Given the description of an element on the screen output the (x, y) to click on. 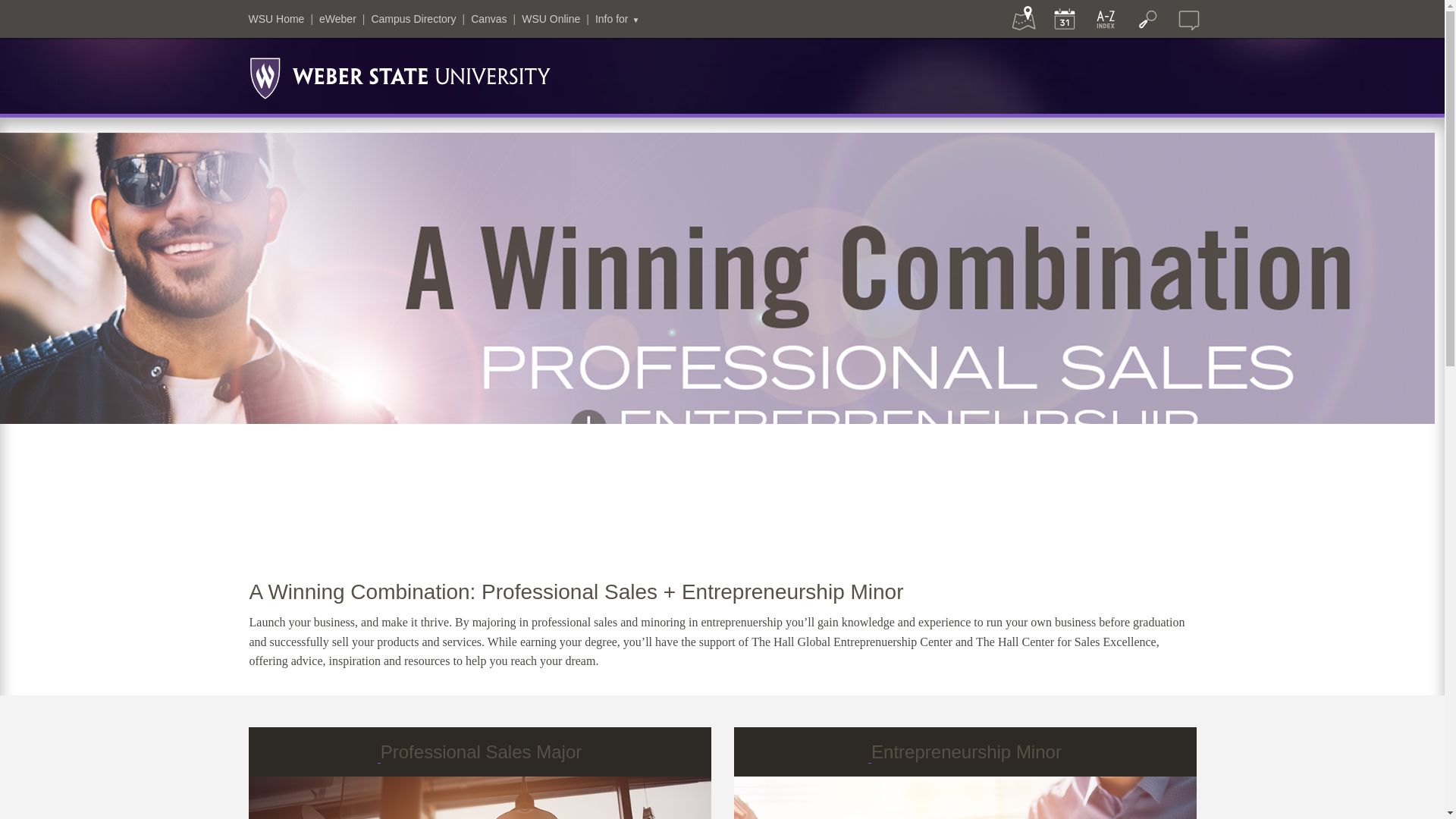
Campus Directory (413, 19)
Info for (617, 19)
Canvas (488, 19)
eWeber (337, 19)
WSU Home (276, 19)
WSU Online (550, 19)
